Given the description of an element on the screen output the (x, y) to click on. 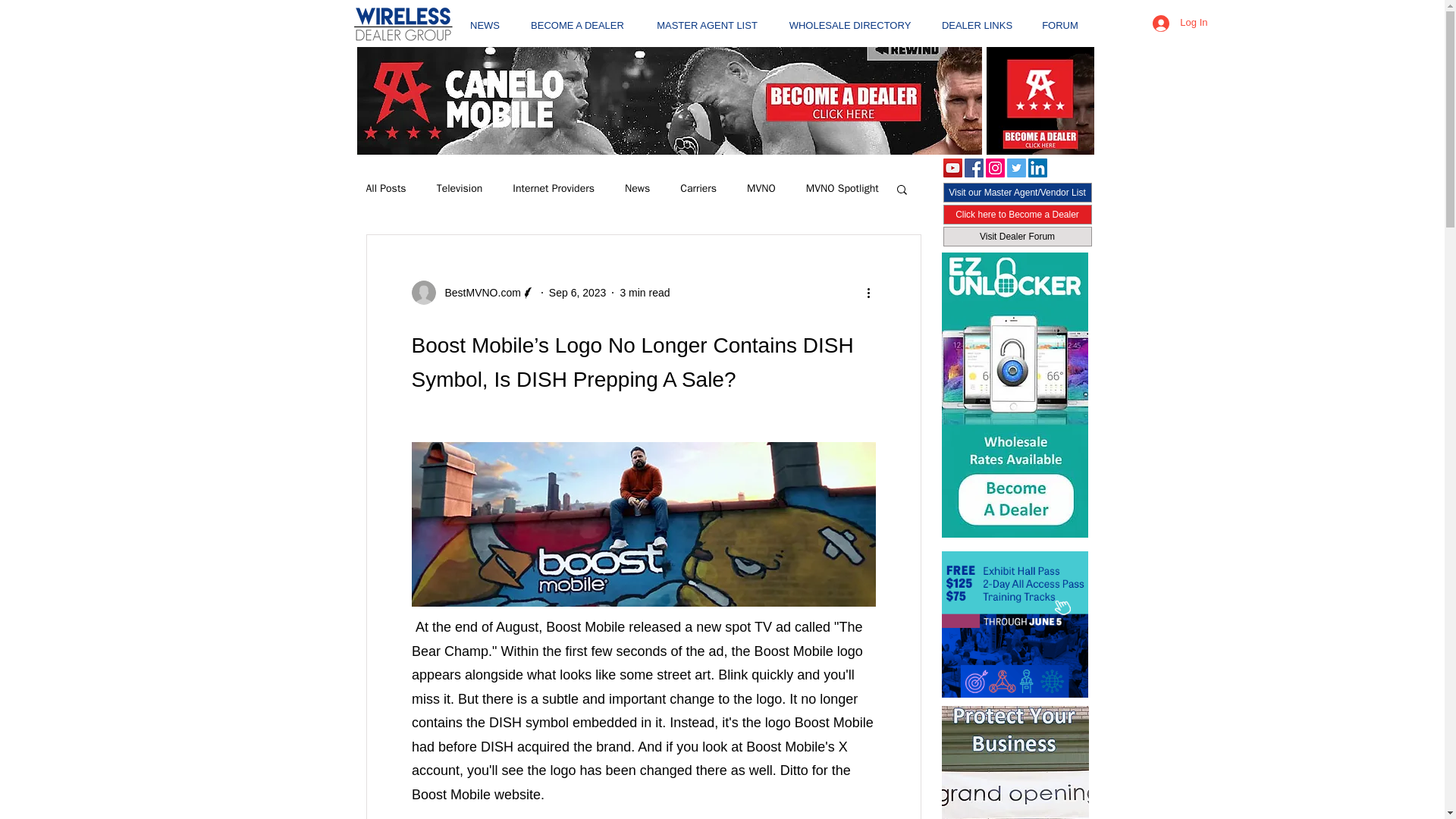
MVNO Spotlight (842, 188)
3 min read (644, 292)
MVNO (761, 188)
Boost Mobile website (475, 794)
Carriers (697, 188)
BestMVNO.com (472, 292)
Boost Mobile's X account (630, 758)
Sep 6, 2023 (577, 292)
FORUM (1060, 18)
The Bear Champ (637, 639)
BestMVNO.com (477, 293)
News (636, 188)
WHOLESALE DIRECTORY (849, 18)
DEALER LINKS (976, 18)
All Posts (385, 188)
